Given the description of an element on the screen output the (x, y) to click on. 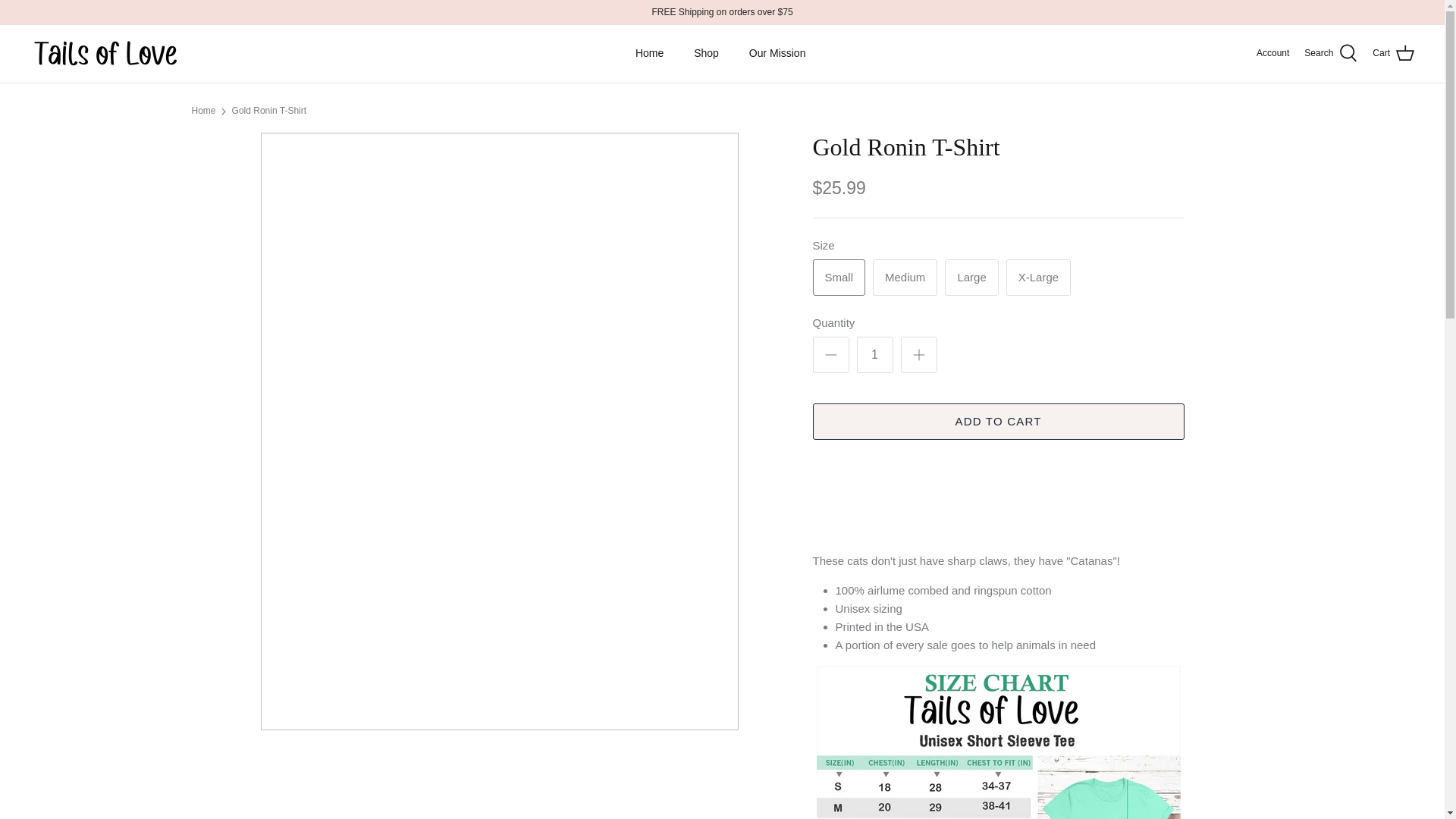
1 (875, 354)
Plus (919, 354)
Search (1330, 53)
Cart (1393, 53)
Home (649, 52)
Shop (705, 52)
Minus (831, 354)
Tails of Love (106, 53)
Our Mission (777, 52)
Account (1272, 52)
